Given the description of an element on the screen output the (x, y) to click on. 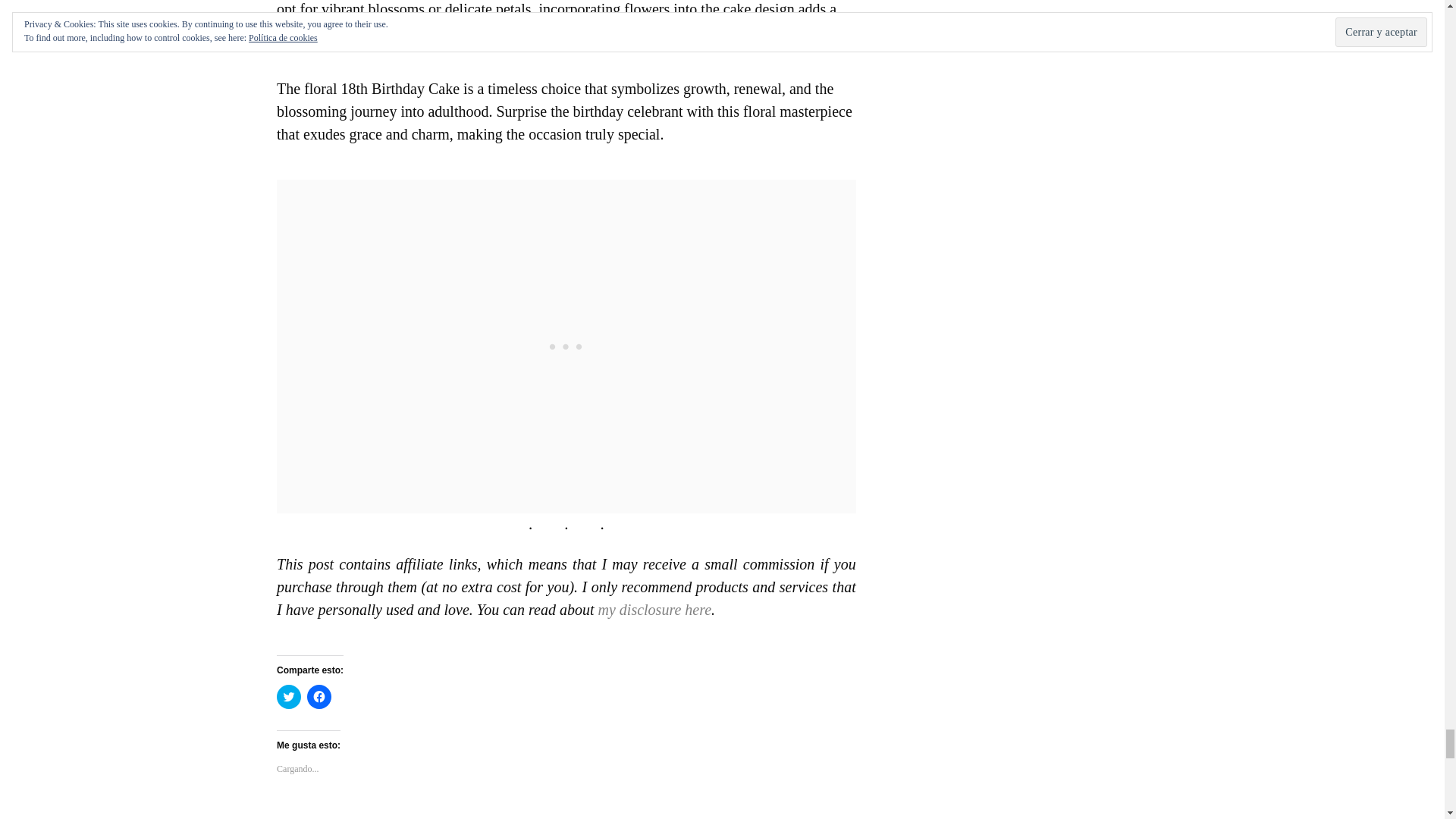
Haz clic para compartir en Twitter (288, 696)
Haz clic para compartir en Facebook (319, 696)
my disclosure here (654, 609)
